Given the description of an element on the screen output the (x, y) to click on. 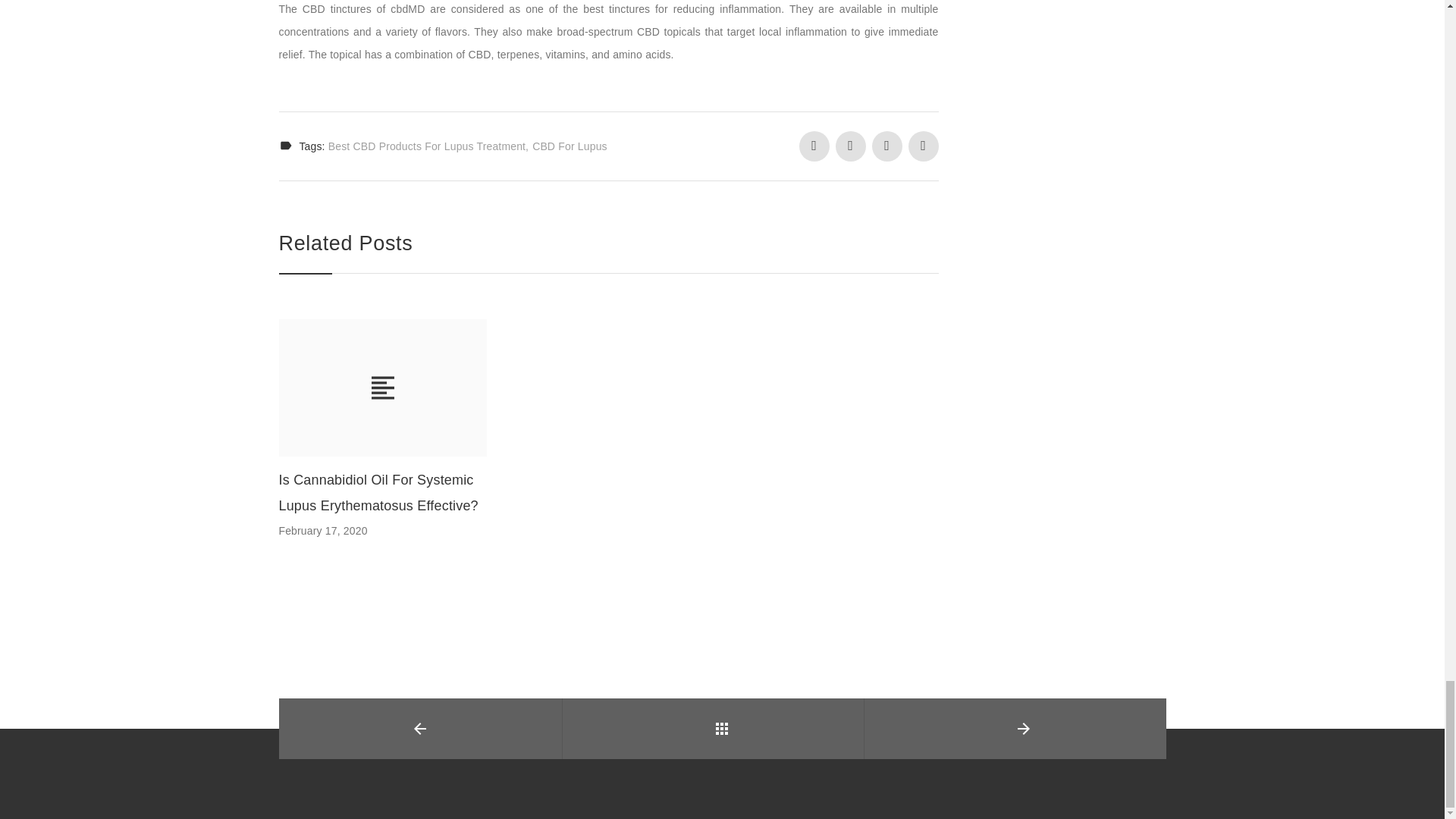
Best CBD Products For Lupus Treatment (428, 145)
Share on Vk (923, 146)
CBD For Lupus (569, 145)
